Given the description of an element on the screen output the (x, y) to click on. 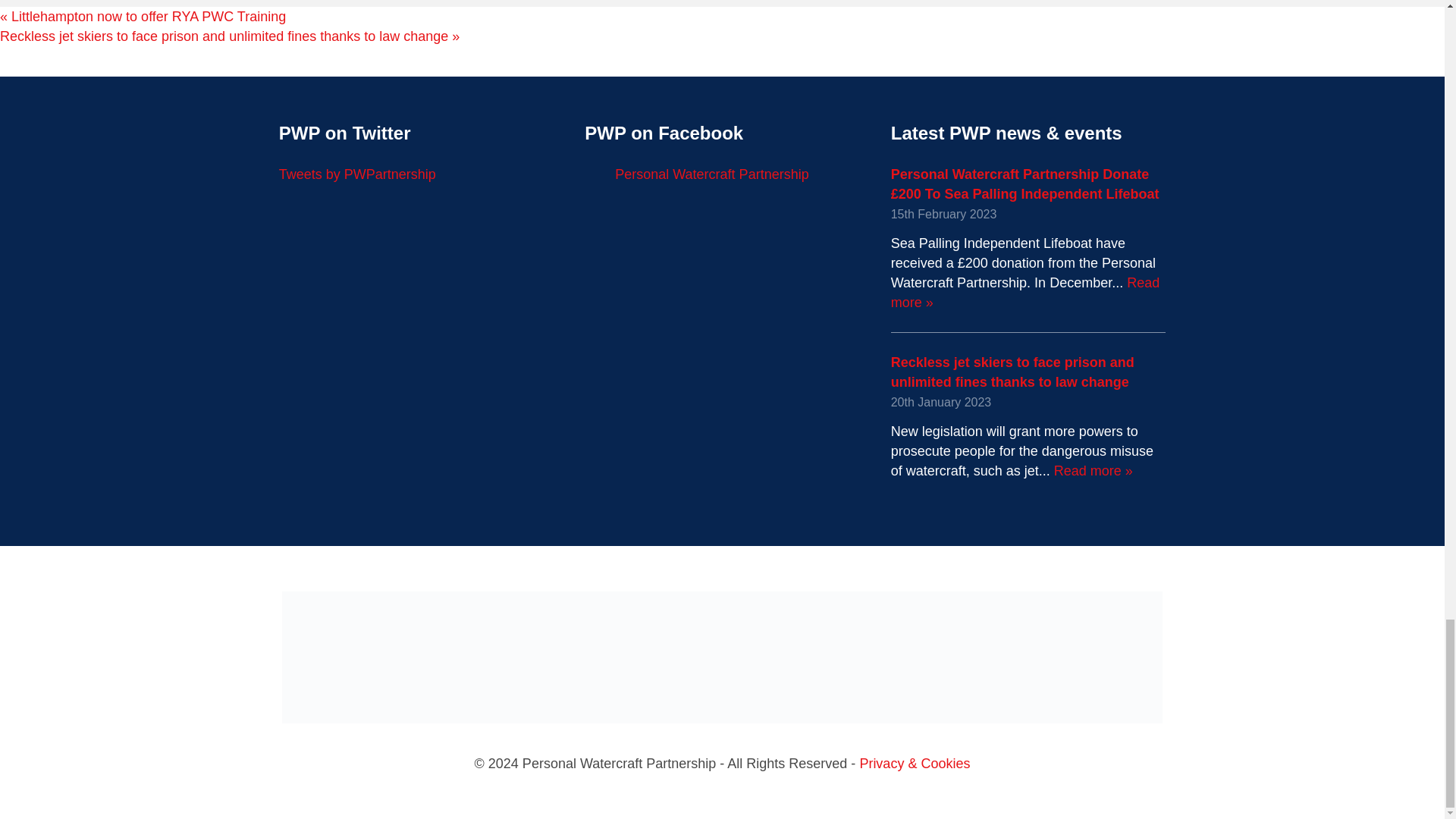
Tweets by PWPartnership (357, 174)
Personal Watercraft Partnership (711, 174)
